Given the description of an element on the screen output the (x, y) to click on. 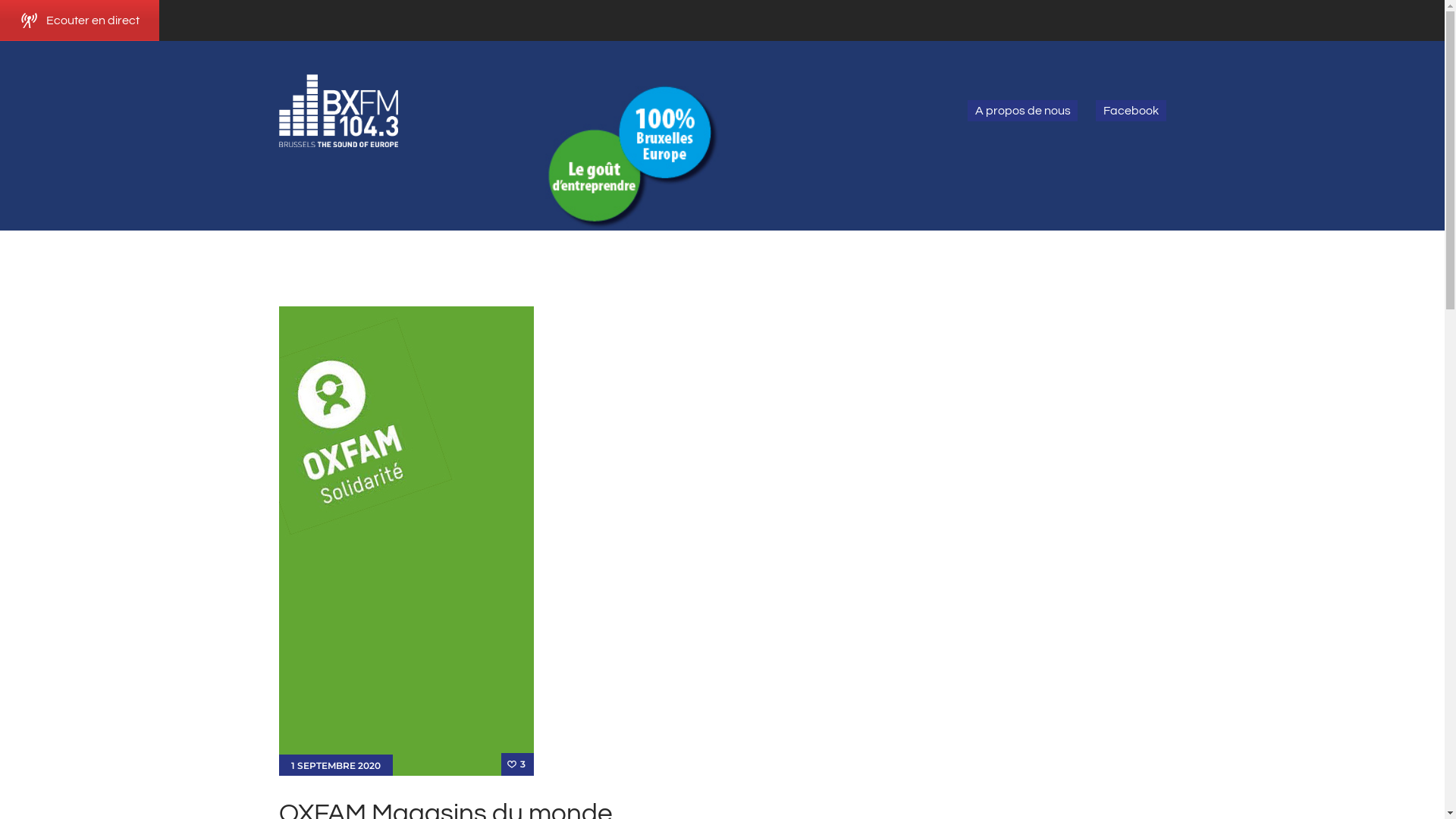
1 SEPTEMBRE 2020 Element type: text (335, 765)
Ecouter en direct Element type: text (79, 20)
Facebook Element type: text (1130, 111)
3 Element type: text (517, 764)
A propos de nous Element type: text (1022, 111)
